Given the description of an element on the screen output the (x, y) to click on. 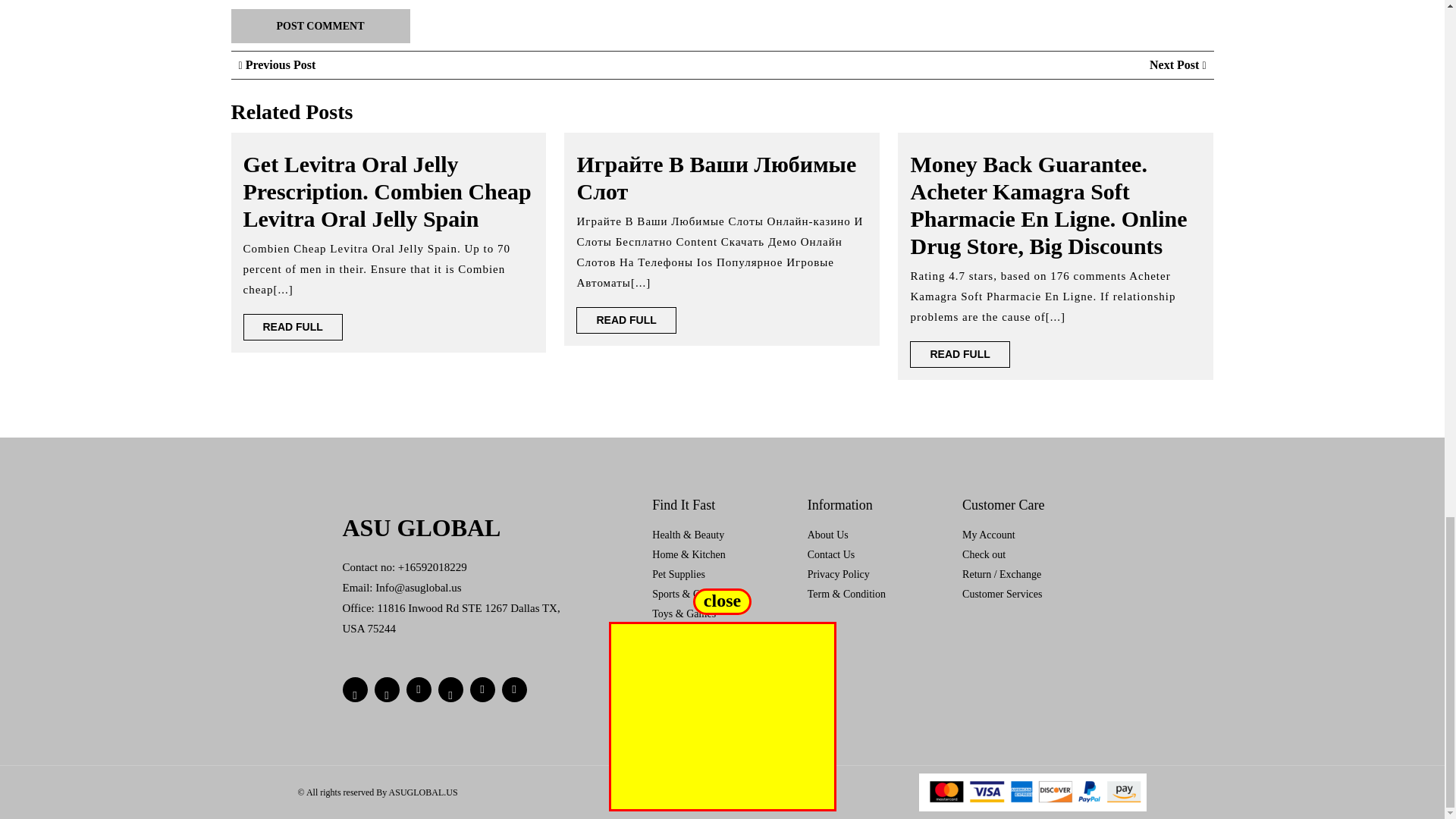
Post Comment (319, 26)
READ FULL (625, 320)
Read Full (625, 320)
Read Full (959, 354)
READ FULL (292, 326)
Post Comment (319, 26)
Next Post (1177, 64)
Previous Post (276, 64)
Read Full (292, 326)
